Given the description of an element on the screen output the (x, y) to click on. 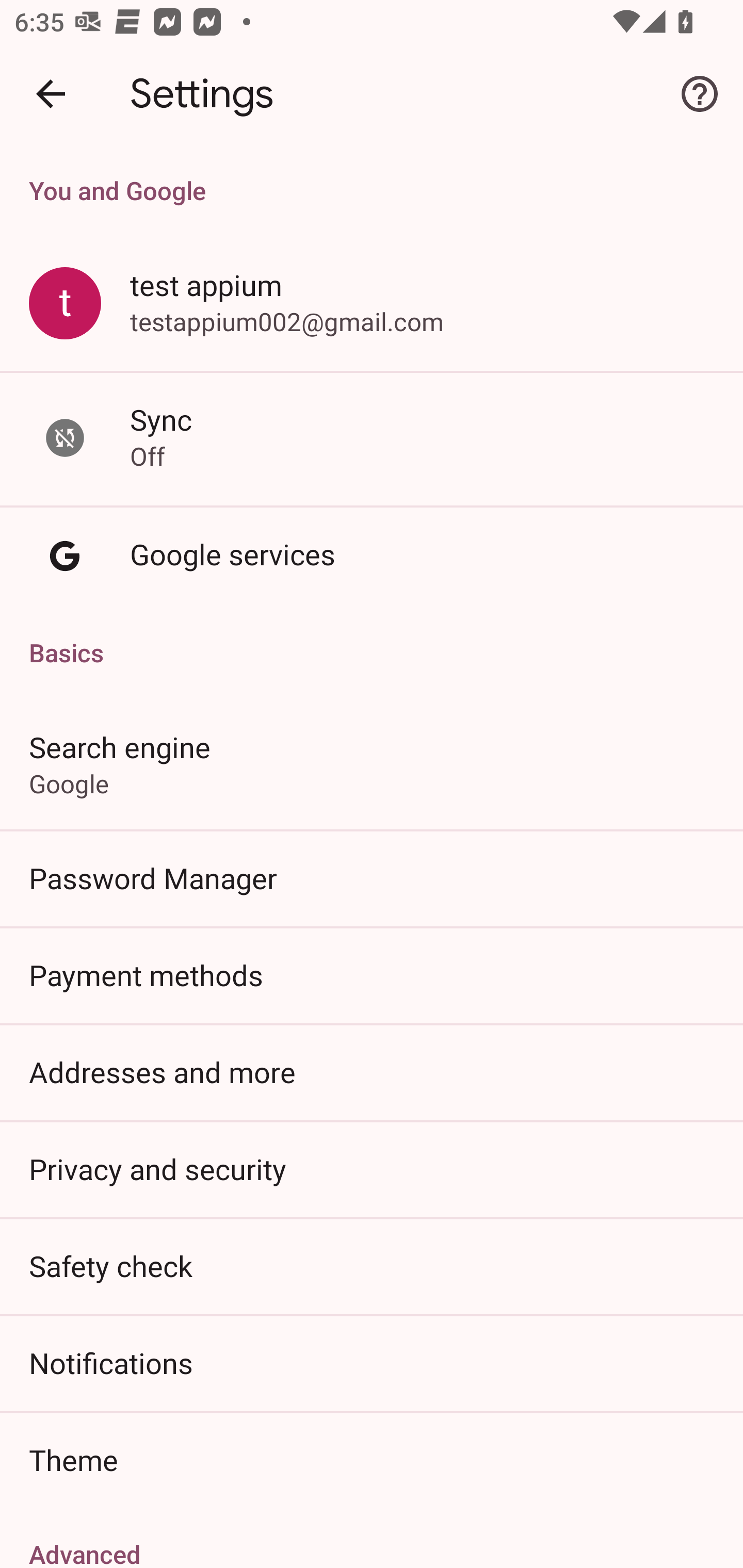
Navigate up (50, 93)
Help & feedback (699, 93)
test appium testappium002@gmail.com (371, 303)
Sync Off (371, 437)
Google services (371, 555)
Search engine Google (371, 763)
Password Manager (371, 877)
Payment methods (371, 974)
Addresses and more (371, 1071)
Privacy and security (371, 1167)
Safety check (371, 1264)
Notifications (371, 1362)
Theme (371, 1459)
